Given the description of an element on the screen output the (x, y) to click on. 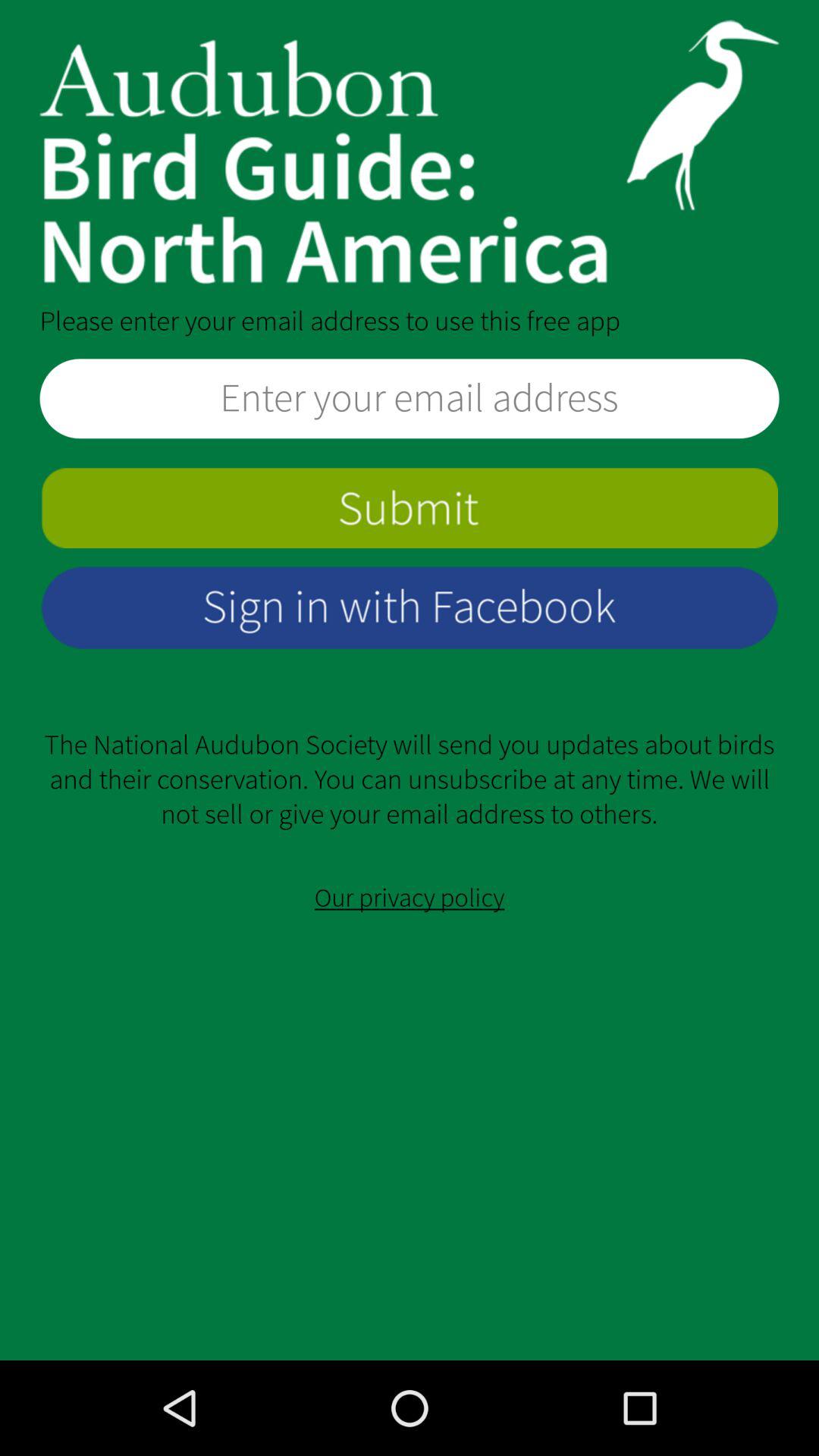
open the item above the please enter your icon (409, 151)
